Given the description of an element on the screen output the (x, y) to click on. 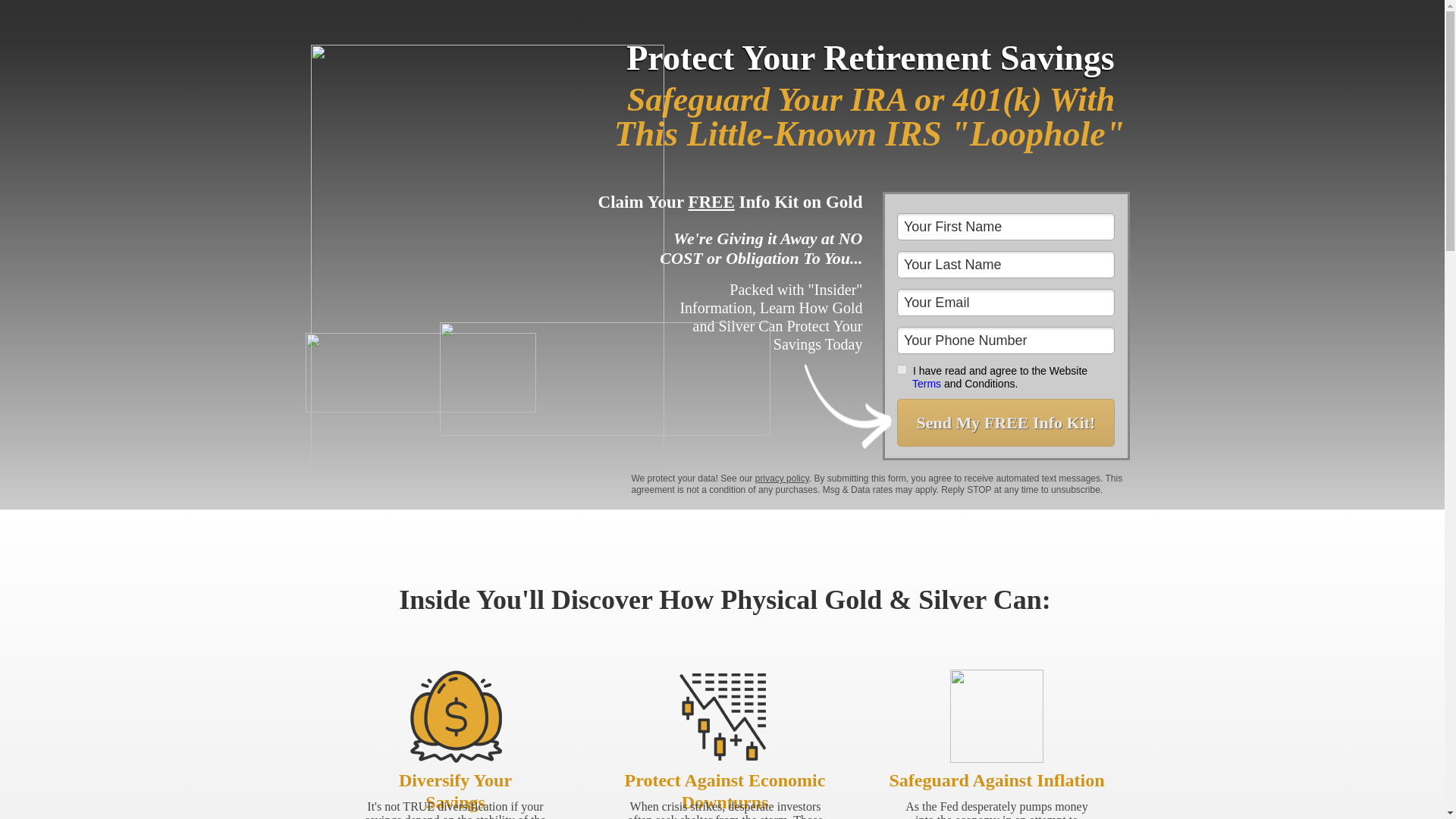
privacy policy (782, 478)
Send My FREE Info Kit! (1005, 422)
Terms (926, 383)
